Given the description of an element on the screen output the (x, y) to click on. 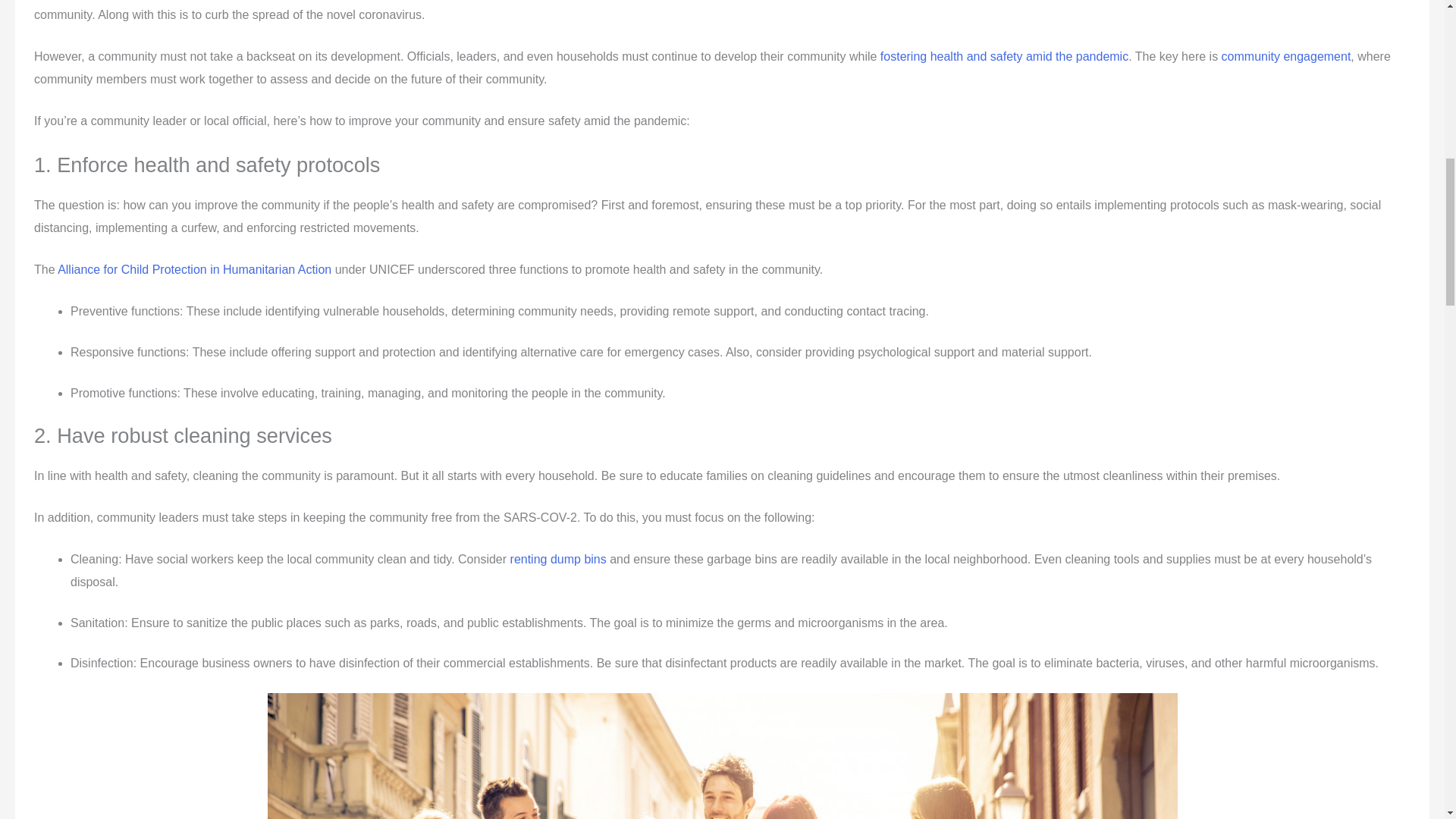
community engagement (1286, 56)
Alliance for Child Protection in Humanitarian Action (194, 269)
fostering health and safety amid the pandemic (1004, 56)
renting dump bins (559, 558)
